Given the description of an element on the screen output the (x, y) to click on. 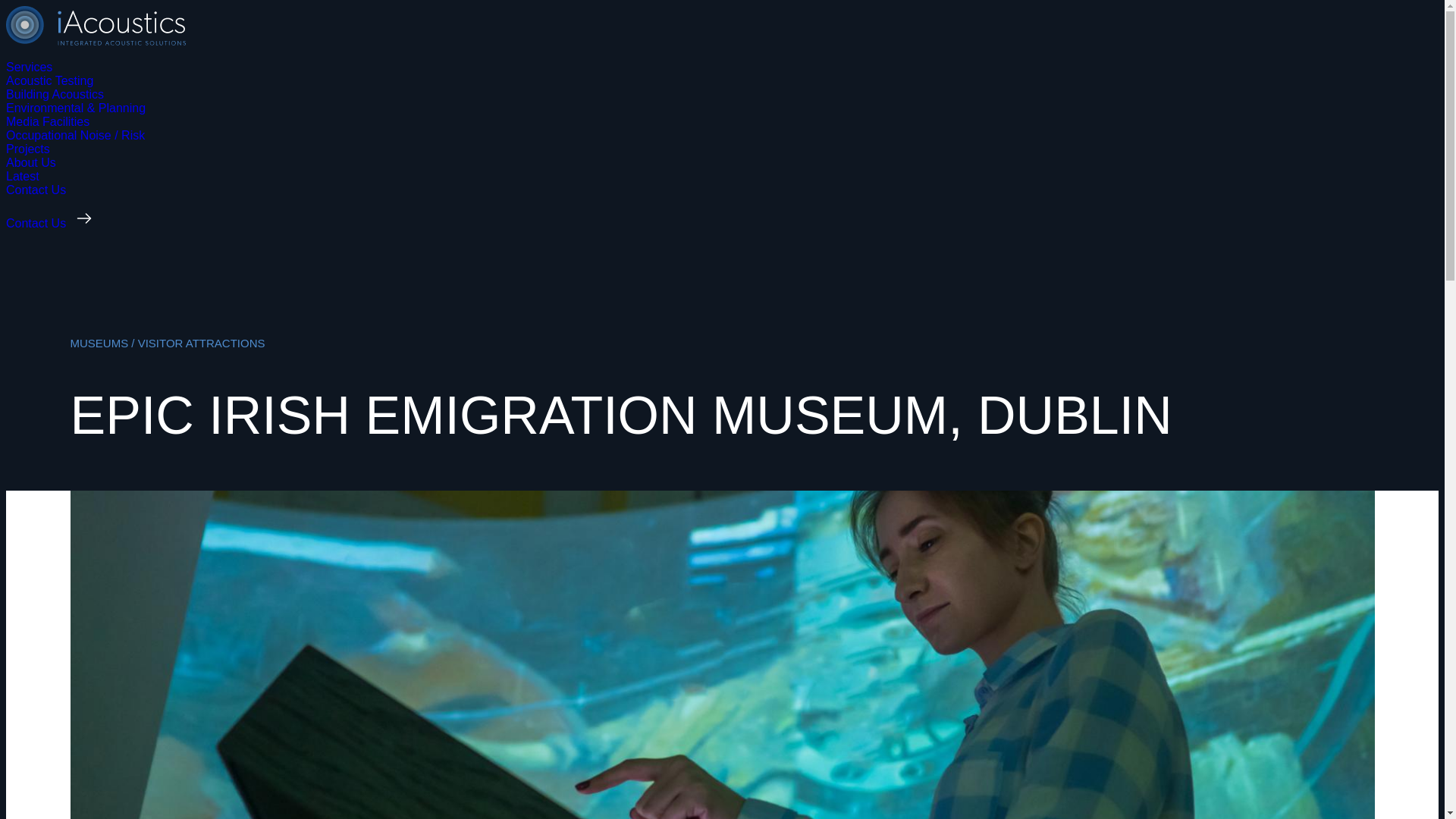
Contact Us (55, 223)
Contact Us (35, 189)
Building Acoustics (54, 93)
Acoustic Testing (49, 80)
Media Facilities (46, 121)
Services (28, 66)
About Us (30, 162)
Latest (22, 175)
Projects (27, 148)
